Given the description of an element on the screen output the (x, y) to click on. 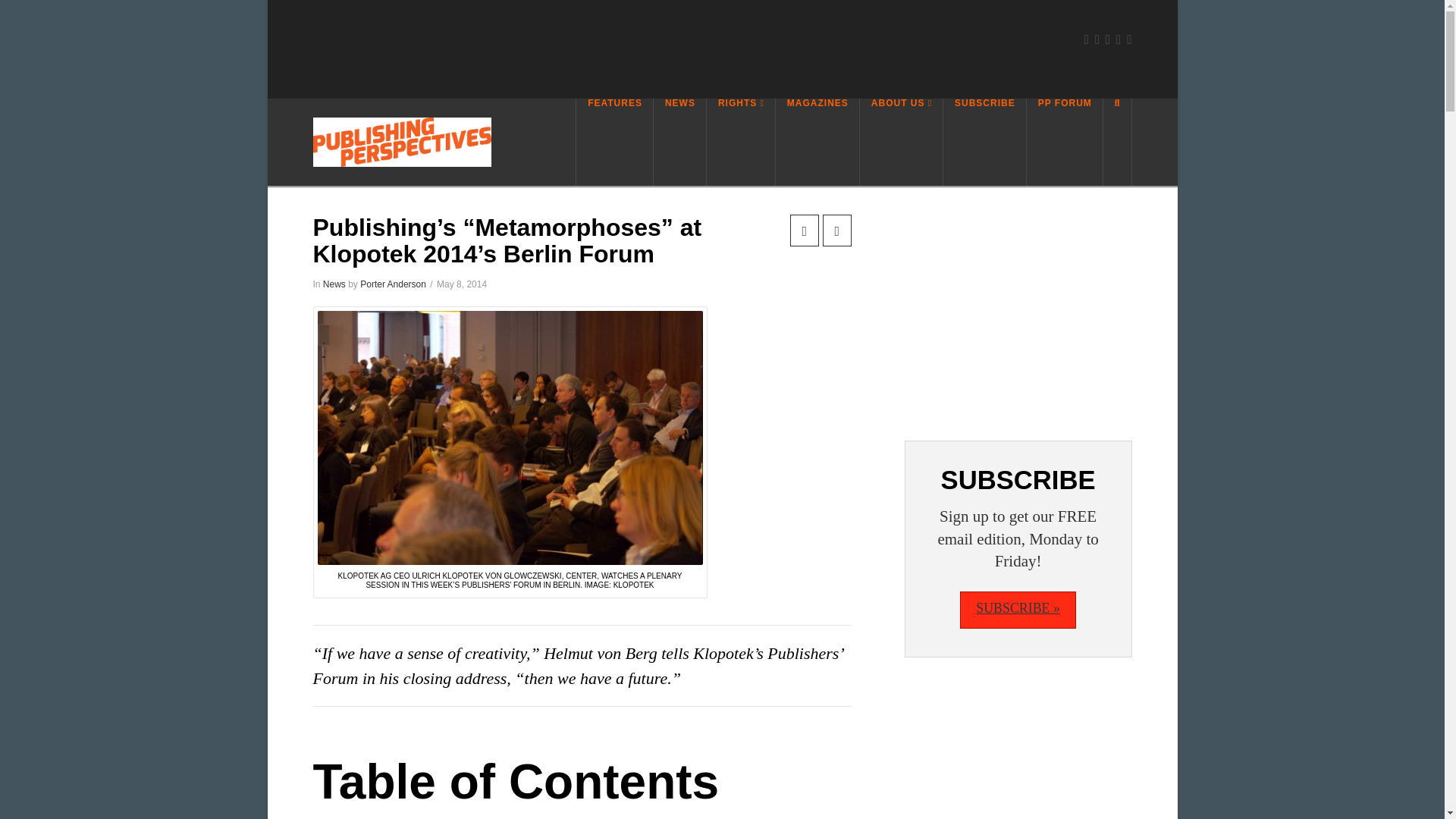
FEATURES (614, 141)
SUBSCRIBE (984, 141)
News (334, 284)
Porter Anderson (392, 284)
MAGAZINES (818, 141)
ABOUT US (901, 141)
